Given the description of an element on the screen output the (x, y) to click on. 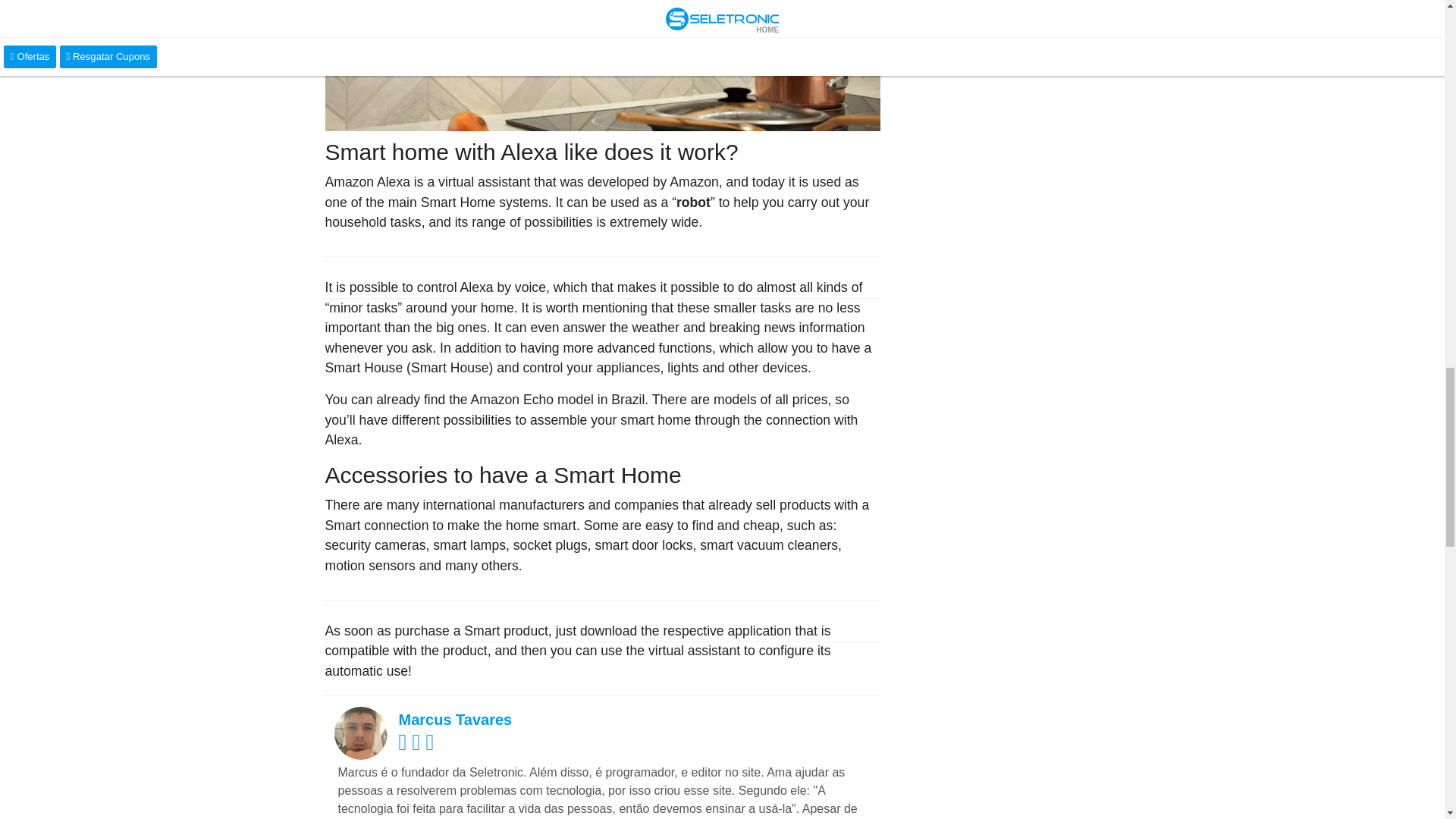
Marcus Tavares (360, 731)
Facebook (418, 745)
Instagram (405, 745)
Marcus Tavares (455, 719)
Marcus Tavares (455, 719)
Linkedin (432, 745)
